Given the description of an element on the screen output the (x, y) to click on. 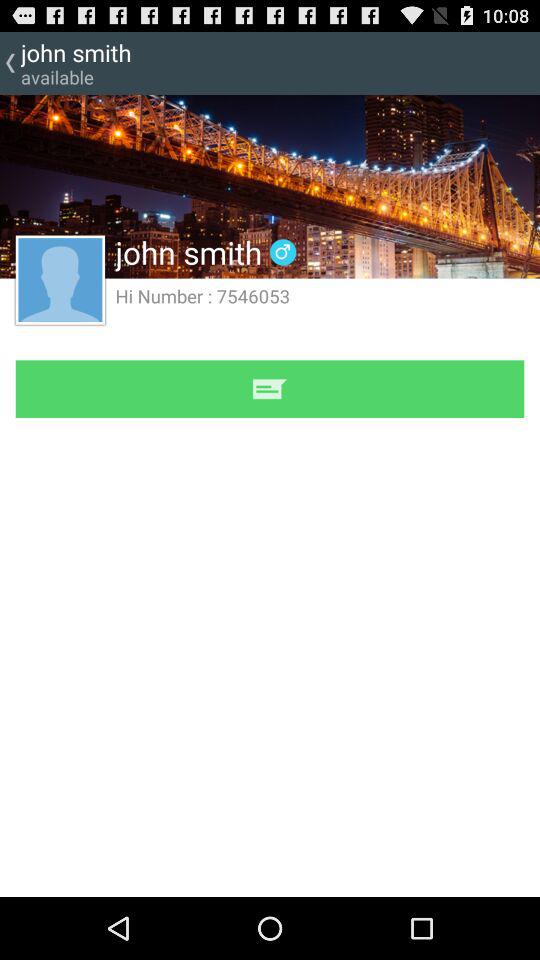
select the icon below the available item (270, 186)
